Given the description of an element on the screen output the (x, y) to click on. 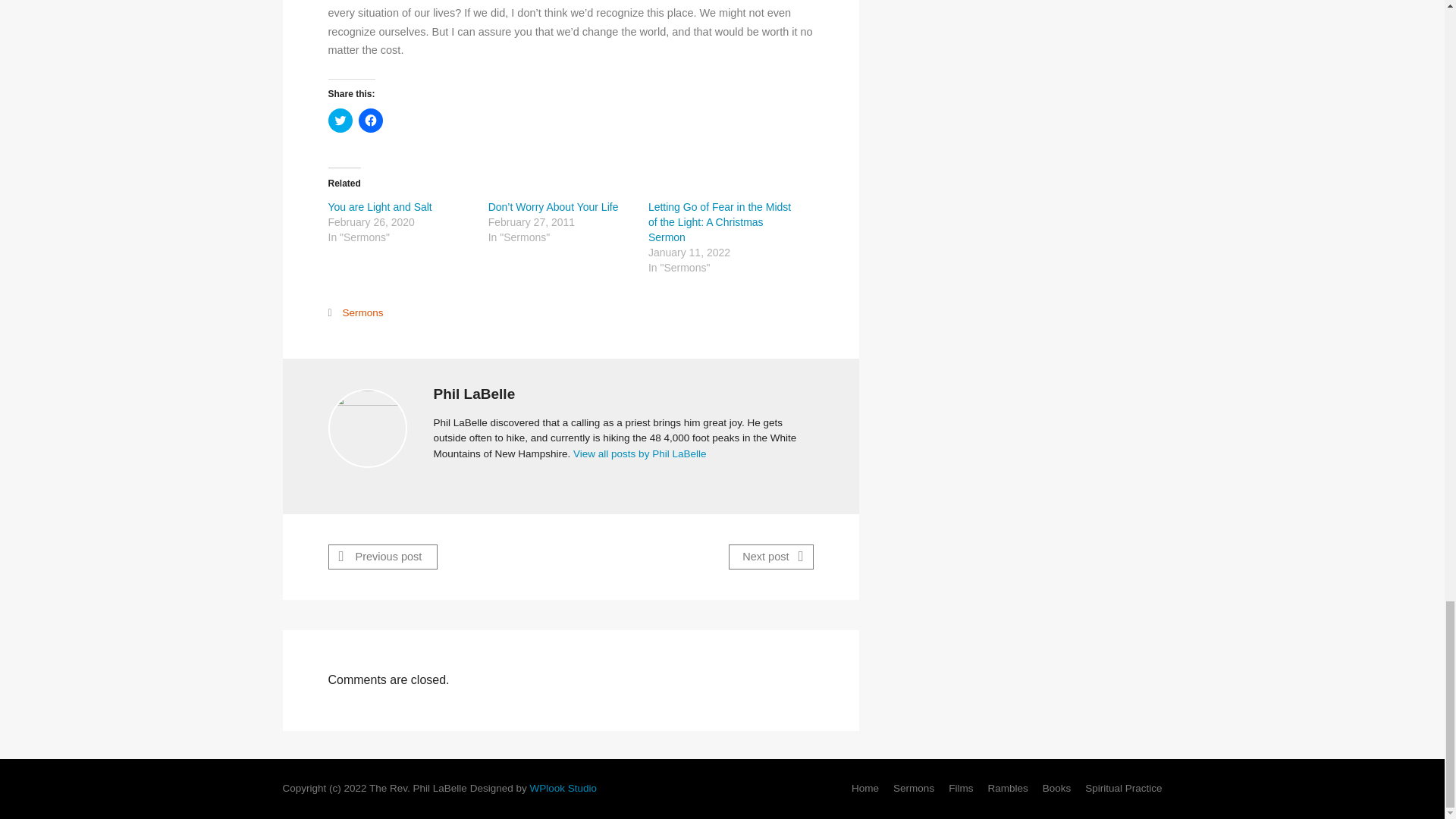
Rambles (1007, 787)
Previous post (382, 556)
You are Light and Salt (378, 206)
WPlook Studio (562, 787)
You are Light and Salt (378, 206)
Click to share on Facebook (369, 120)
Spiritual Practice (1122, 787)
Next post (770, 556)
Click to share on Twitter (339, 120)
Sermons (913, 787)
Home (865, 787)
View all posts by Phil LaBelle (639, 453)
Books (1056, 787)
